Given the description of an element on the screen output the (x, y) to click on. 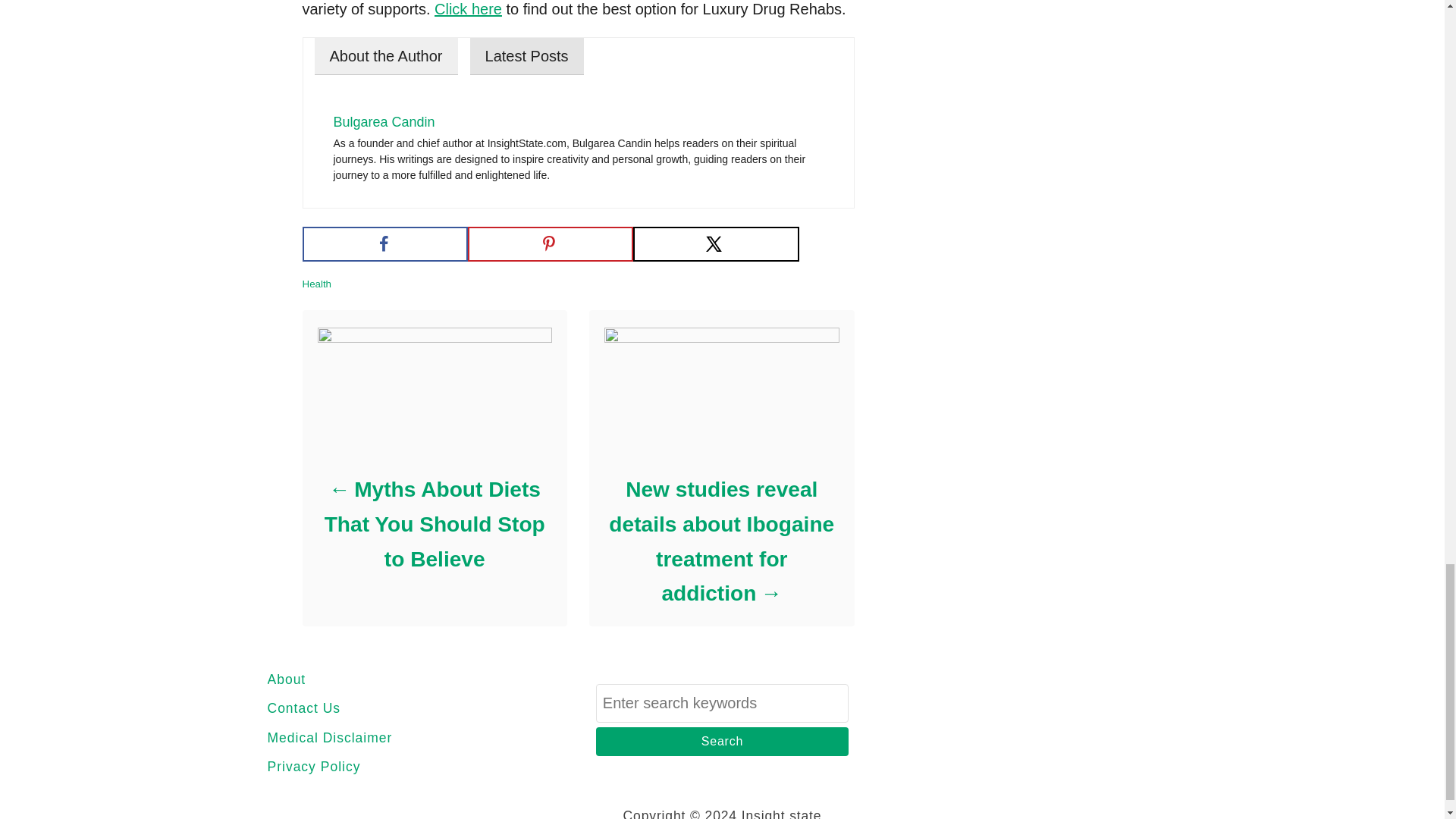
Save to Pinterest (550, 243)
Share on X (715, 243)
Search (721, 741)
Contact Us (400, 708)
Medical Disclaimer (400, 737)
Search (721, 741)
Bulgarea Candin (384, 121)
Search for: (721, 702)
Click here (467, 8)
Search (721, 741)
